Given the description of an element on the screen output the (x, y) to click on. 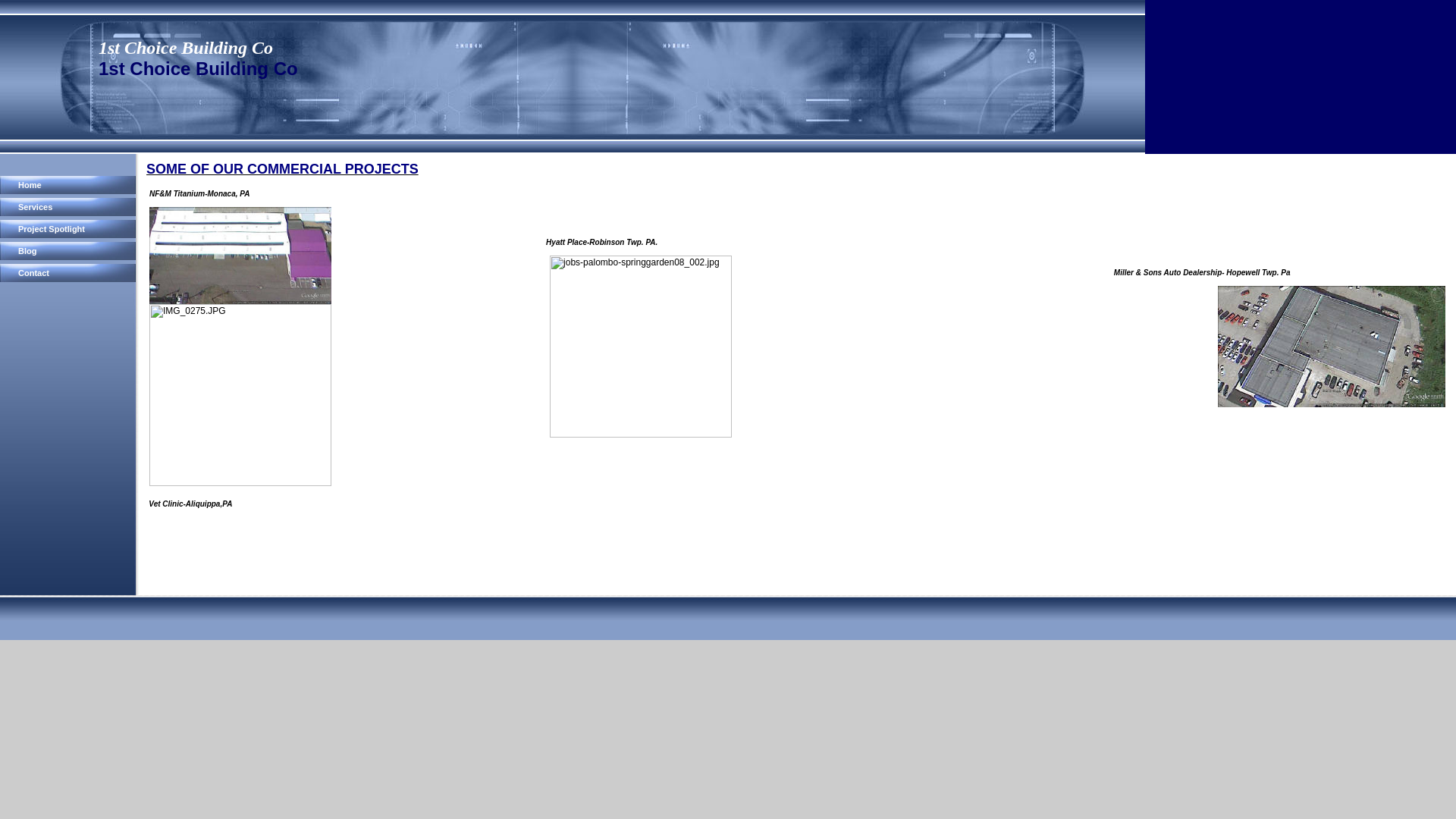
Project Spotlight Element type: text (69, 228)
Blog Element type: text (69, 250)
Contact Element type: text (69, 272)
Home Element type: text (69, 184)
Services Element type: text (69, 206)
